Given the description of an element on the screen output the (x, y) to click on. 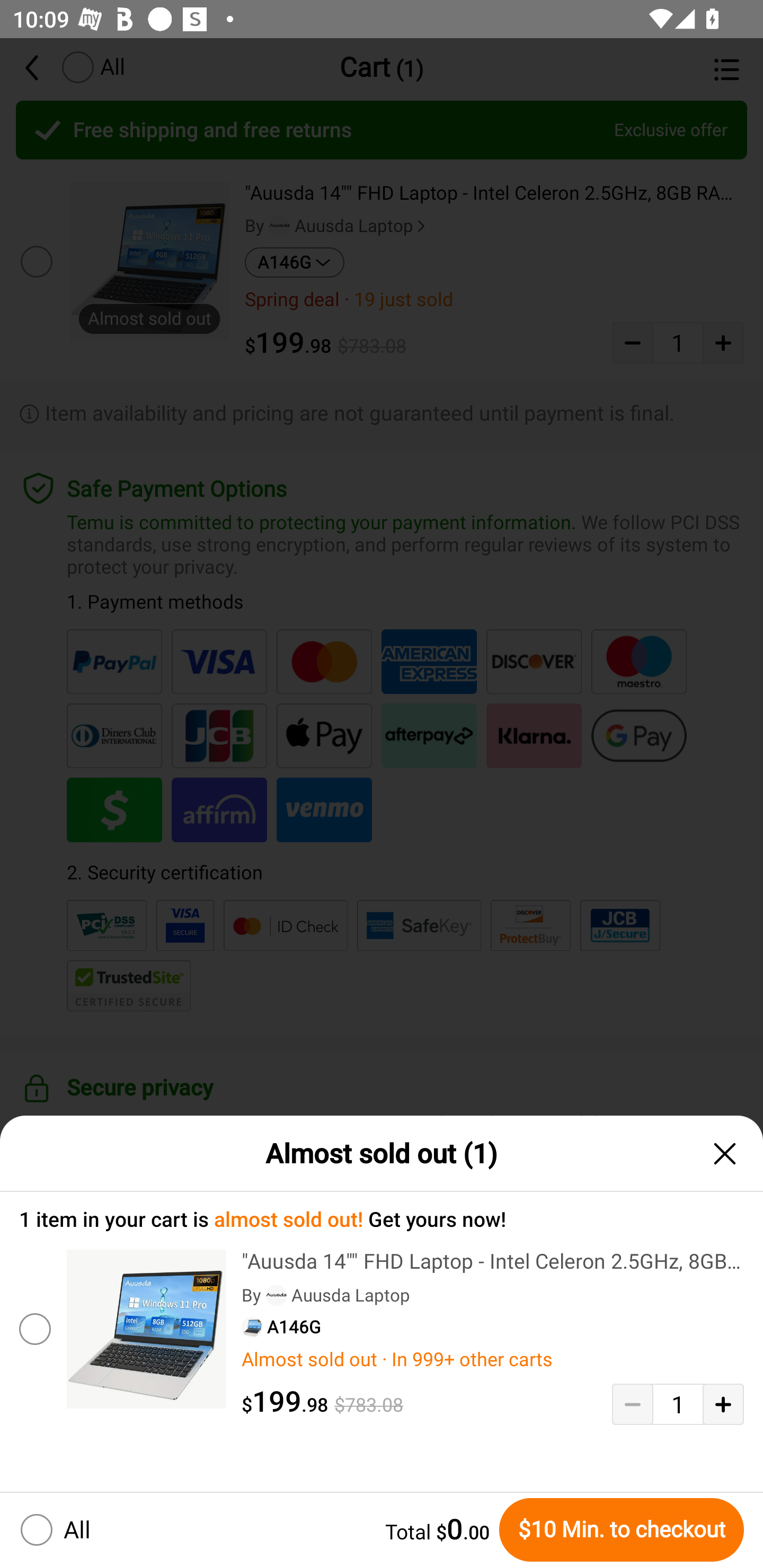
close (724, 1152)
Product checkbox uncheck (33, 1328)
Decrease quantity button (632, 1403)
1 (677, 1403)
Add quantity button (722, 1403)
Select all tick button (31, 1529)
Total $0.00 (296, 1529)
$10 Min. to checkout (621, 1529)
